Given the description of an element on the screen output the (x, y) to click on. 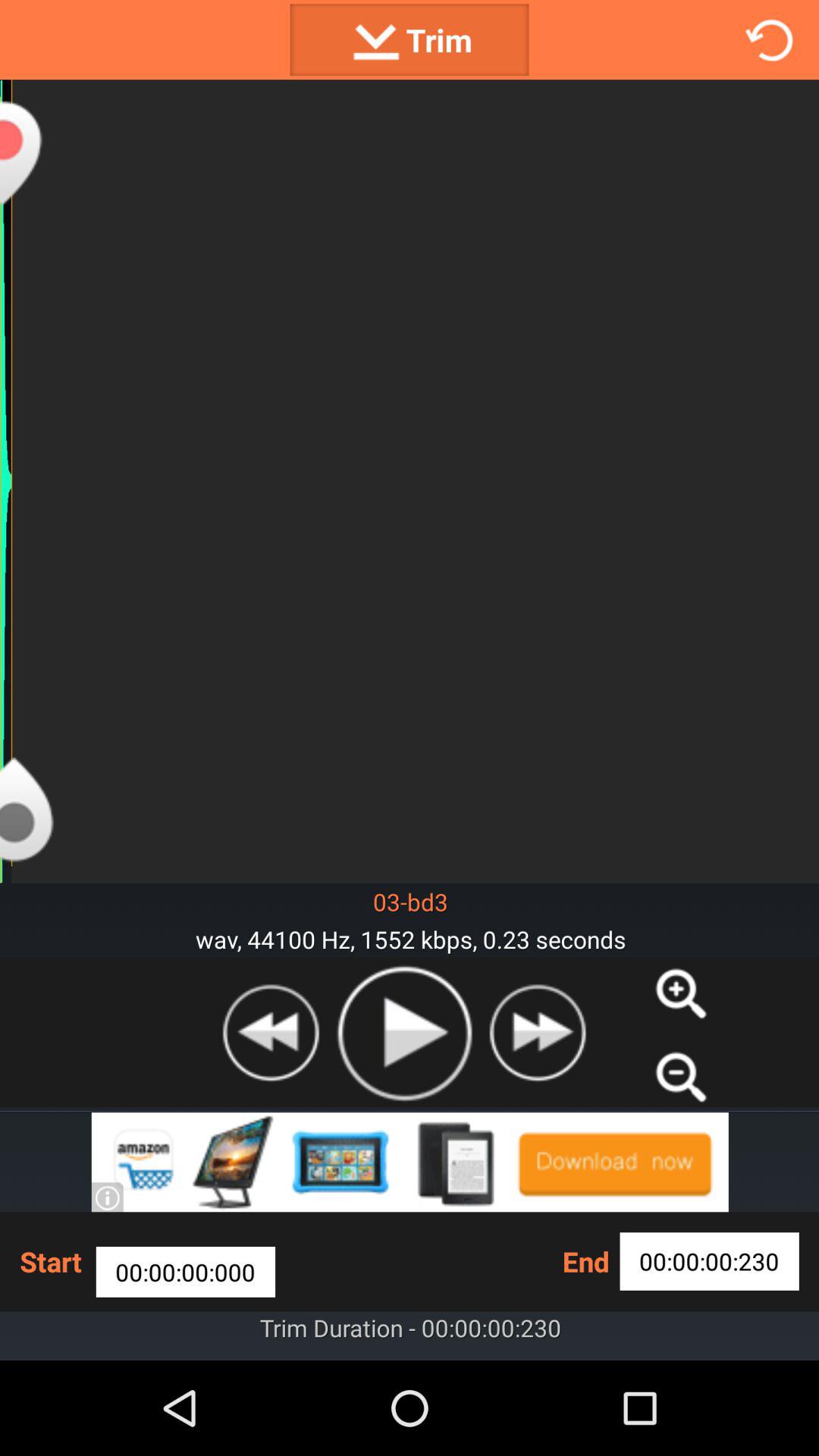
refresh (768, 39)
